Given the description of an element on the screen output the (x, y) to click on. 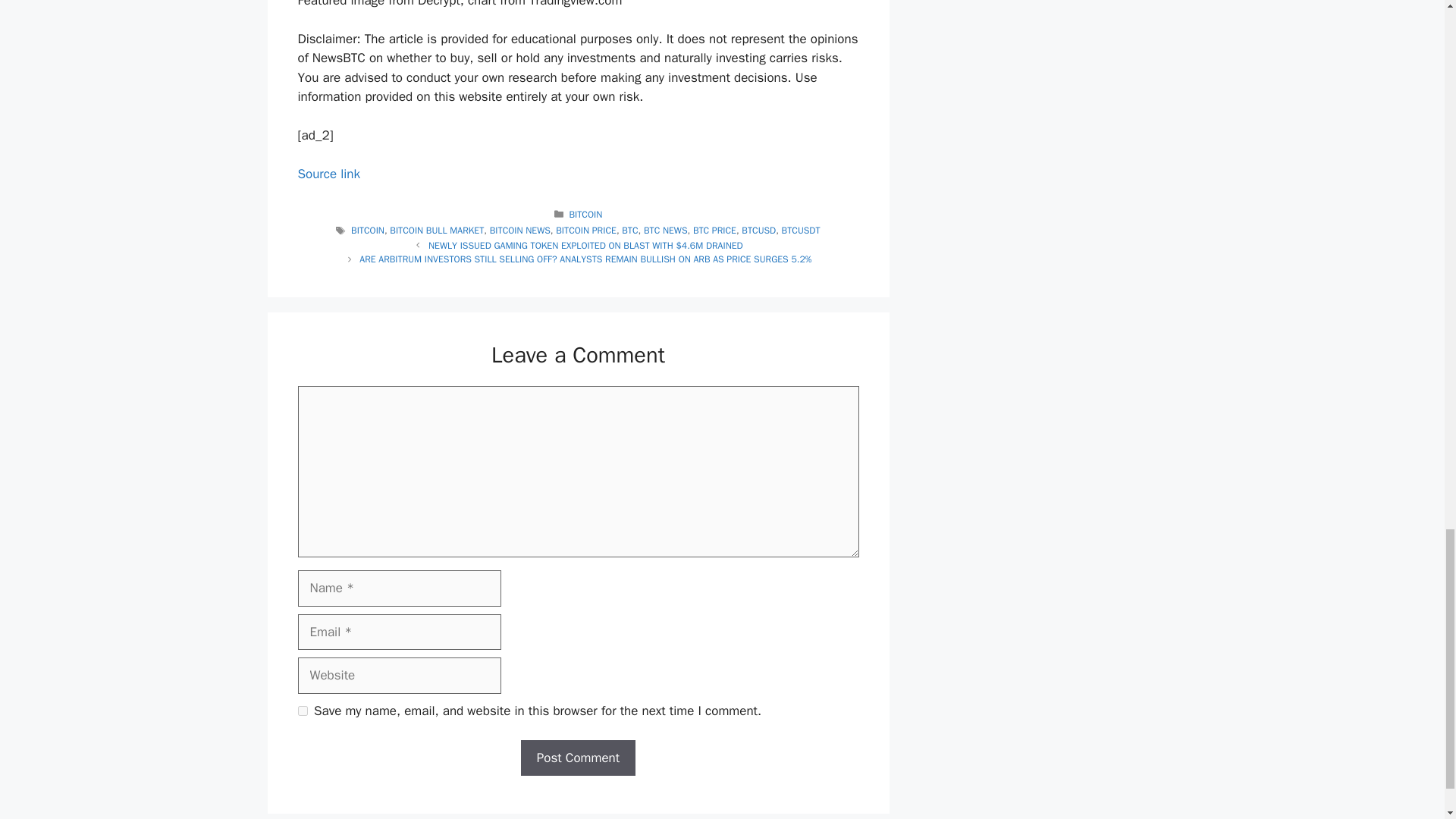
BTC (629, 230)
BTC NEWS (665, 230)
BITCOIN NEWS (519, 230)
BITCOIN (585, 214)
BTC PRICE (714, 230)
BITCOIN PRICE (585, 230)
Source link (328, 173)
yes (302, 710)
BITCOIN (367, 230)
Post Comment (577, 758)
